Given the description of an element on the screen output the (x, y) to click on. 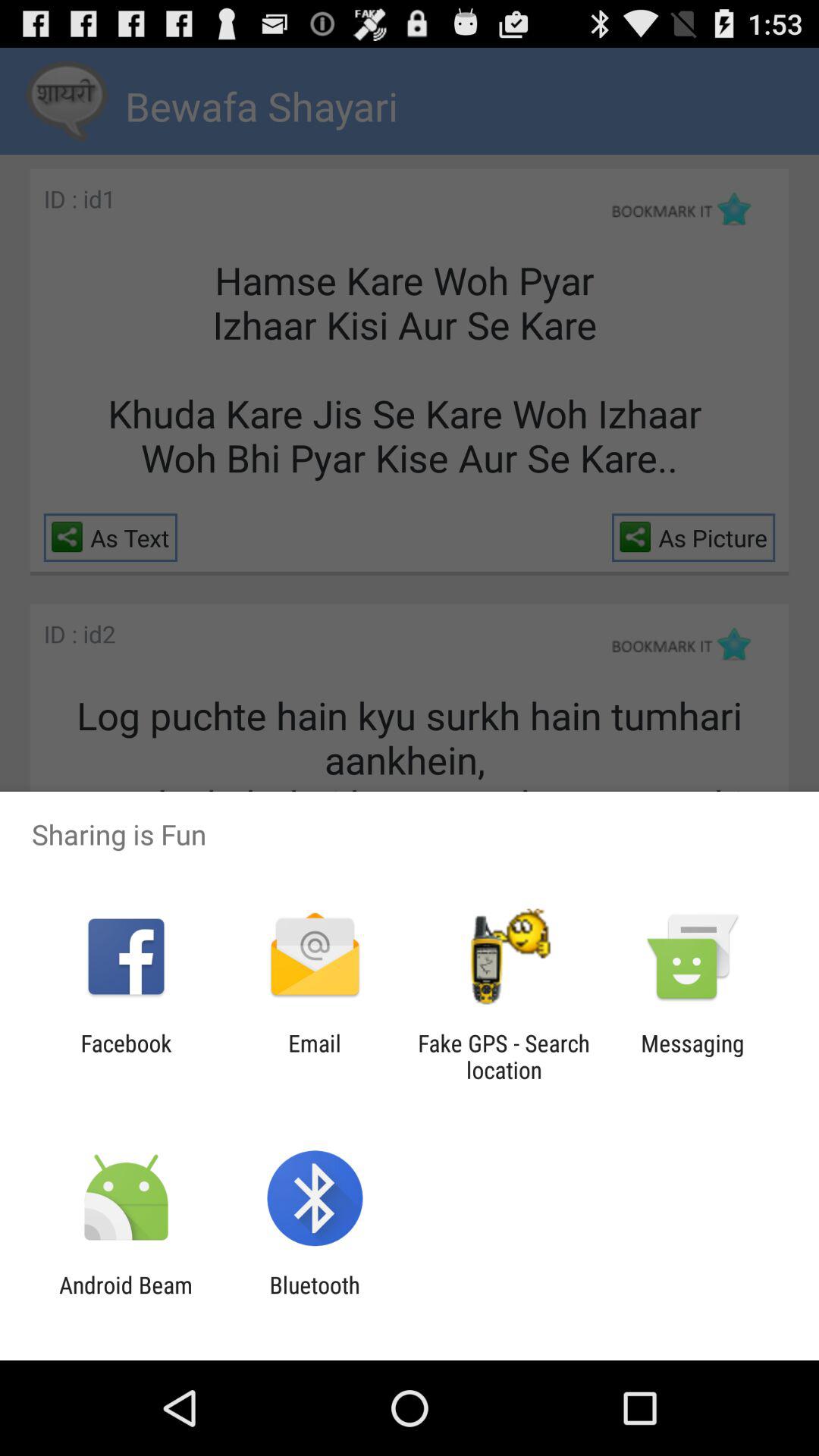
open the icon to the right of facebook (314, 1056)
